Given the description of an element on the screen output the (x, y) to click on. 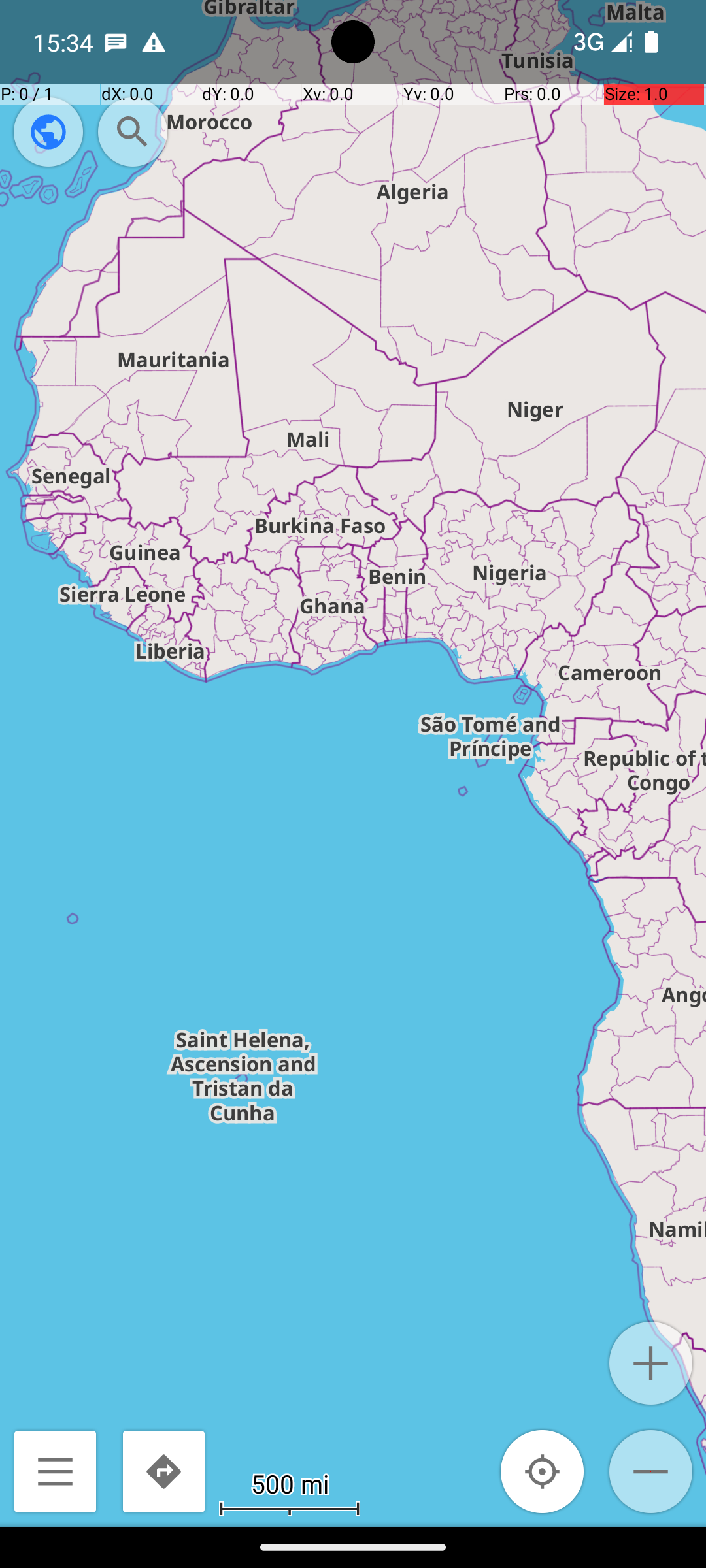
Map Element type: android.view.View (353, 763)
Configure map Element type: android.widget.ImageButton (48, 131)
Back to menu Element type: android.widget.ImageButton (55, 1471)
Route Element type: android.widget.ImageButton (163, 1471)
500 mi Element type: android.widget.TextView (289, 1483)
Position not yet known. Element type: android.widget.ImageButton (542, 1471)
Zoom in Element type: android.widget.ImageButton (650, 1362)
Zoom out Element type: android.widget.ImageButton (650, 1471)
